Given the description of an element on the screen output the (x, y) to click on. 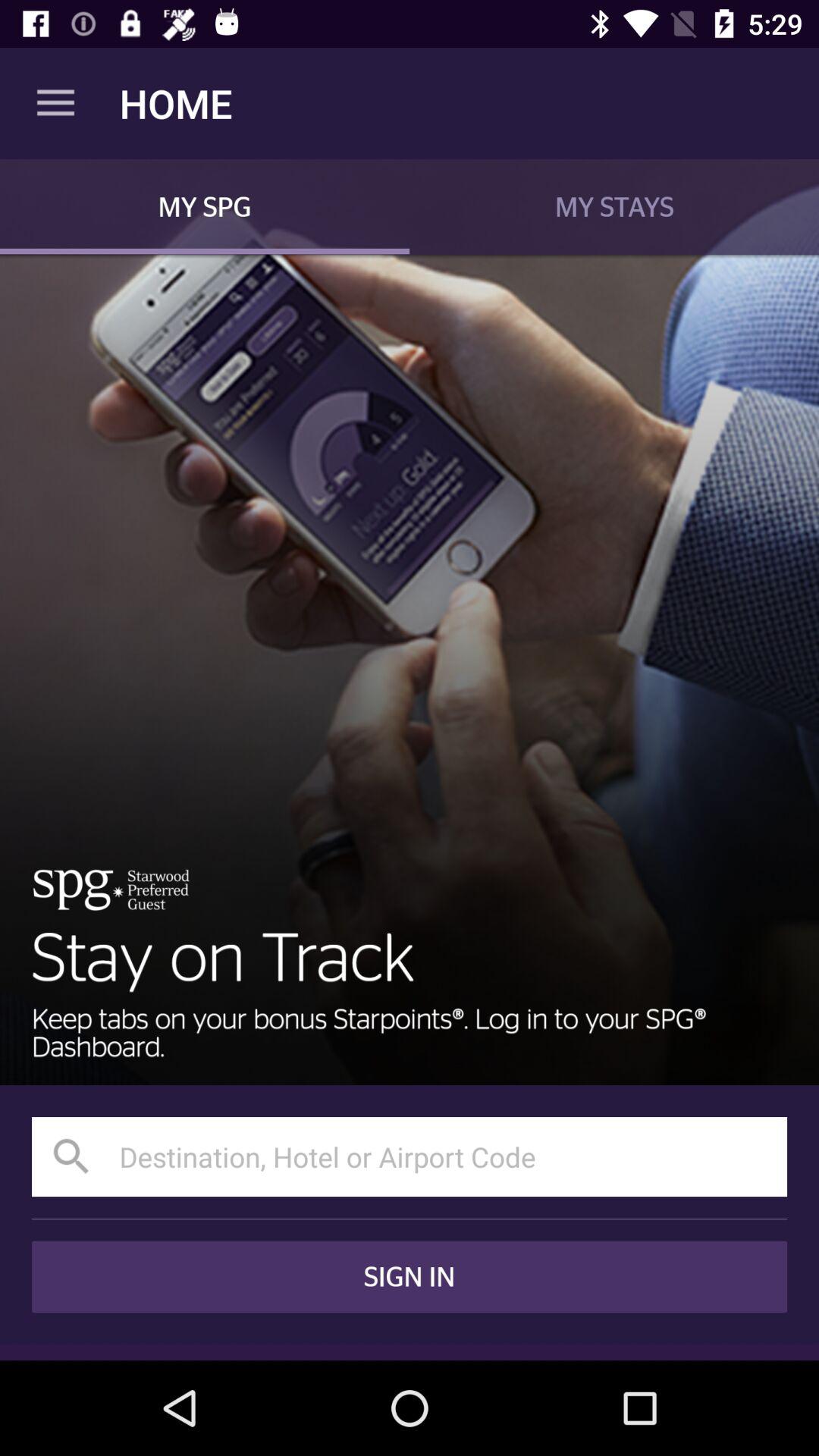
open the item to the right of the my spg app (614, 206)
